Given the description of an element on the screen output the (x, y) to click on. 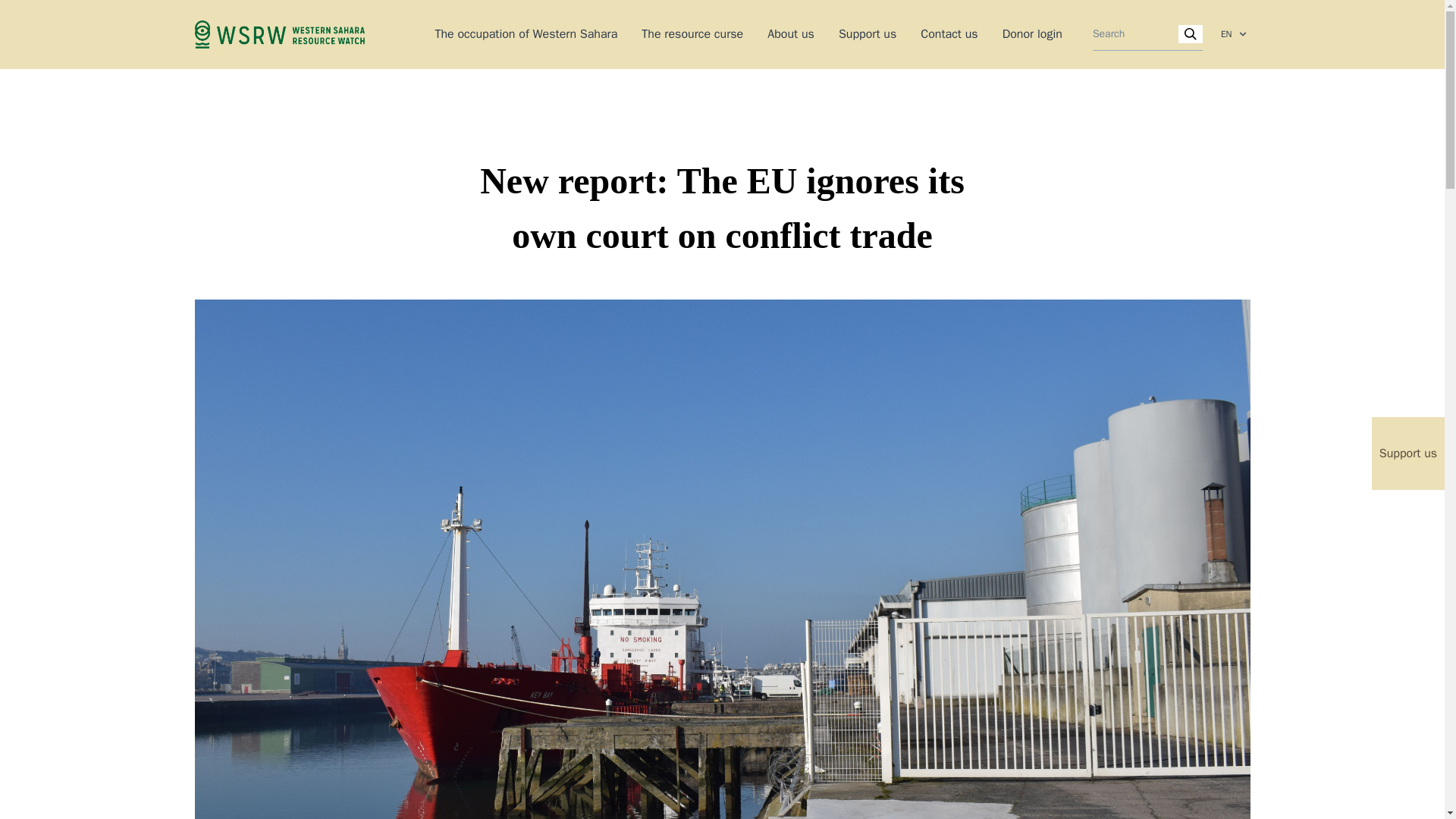
Contact us (948, 33)
Donor login (1032, 33)
About us (790, 33)
The resource curse (692, 33)
Support us (867, 33)
EN (1232, 33)
The occupation of Western Sahara (525, 33)
